Given the description of an element on the screen output the (x, y) to click on. 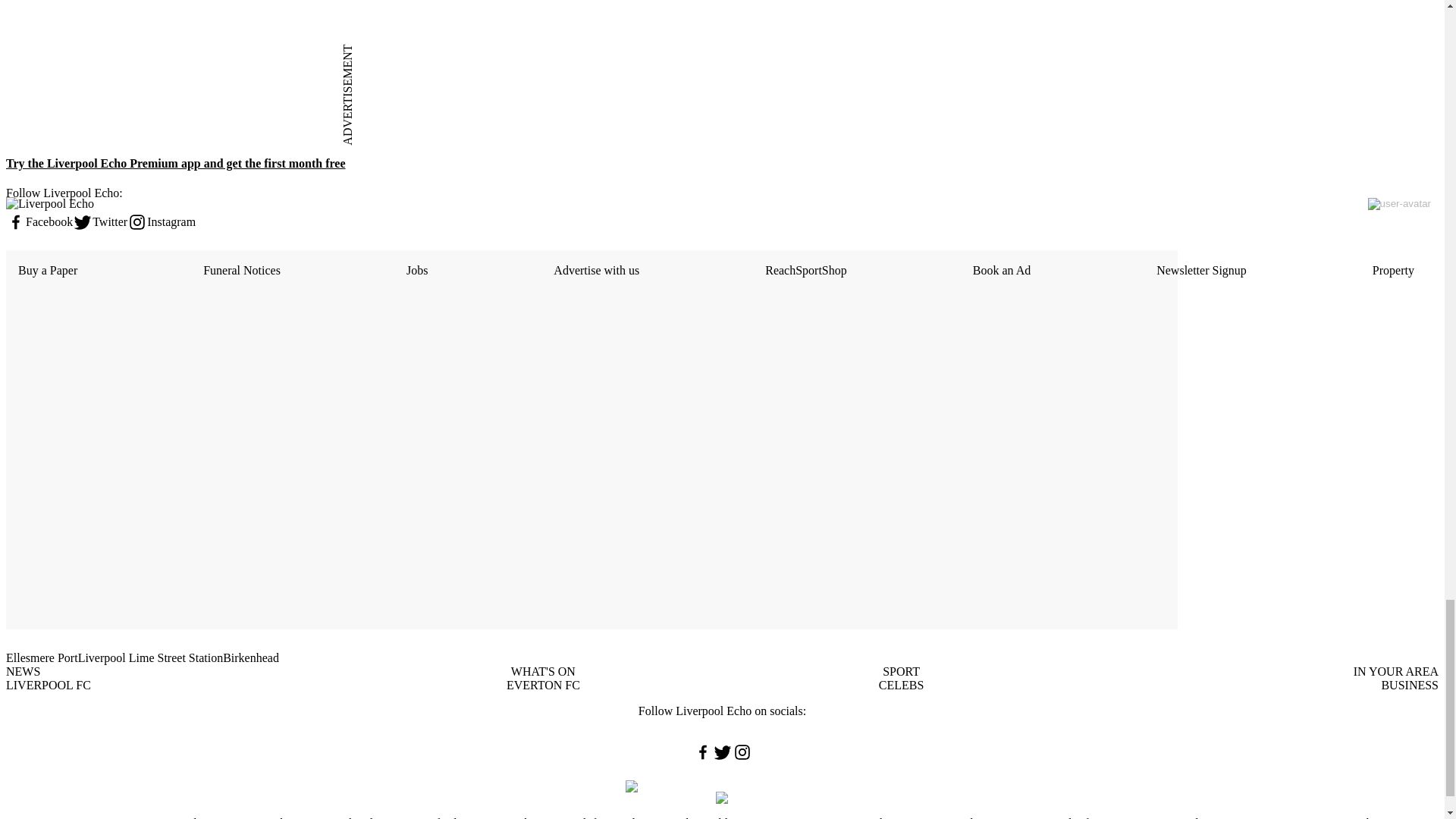
Twitter (100, 221)
Instagram (161, 221)
Facebook (38, 221)
